Given the description of an element on the screen output the (x, y) to click on. 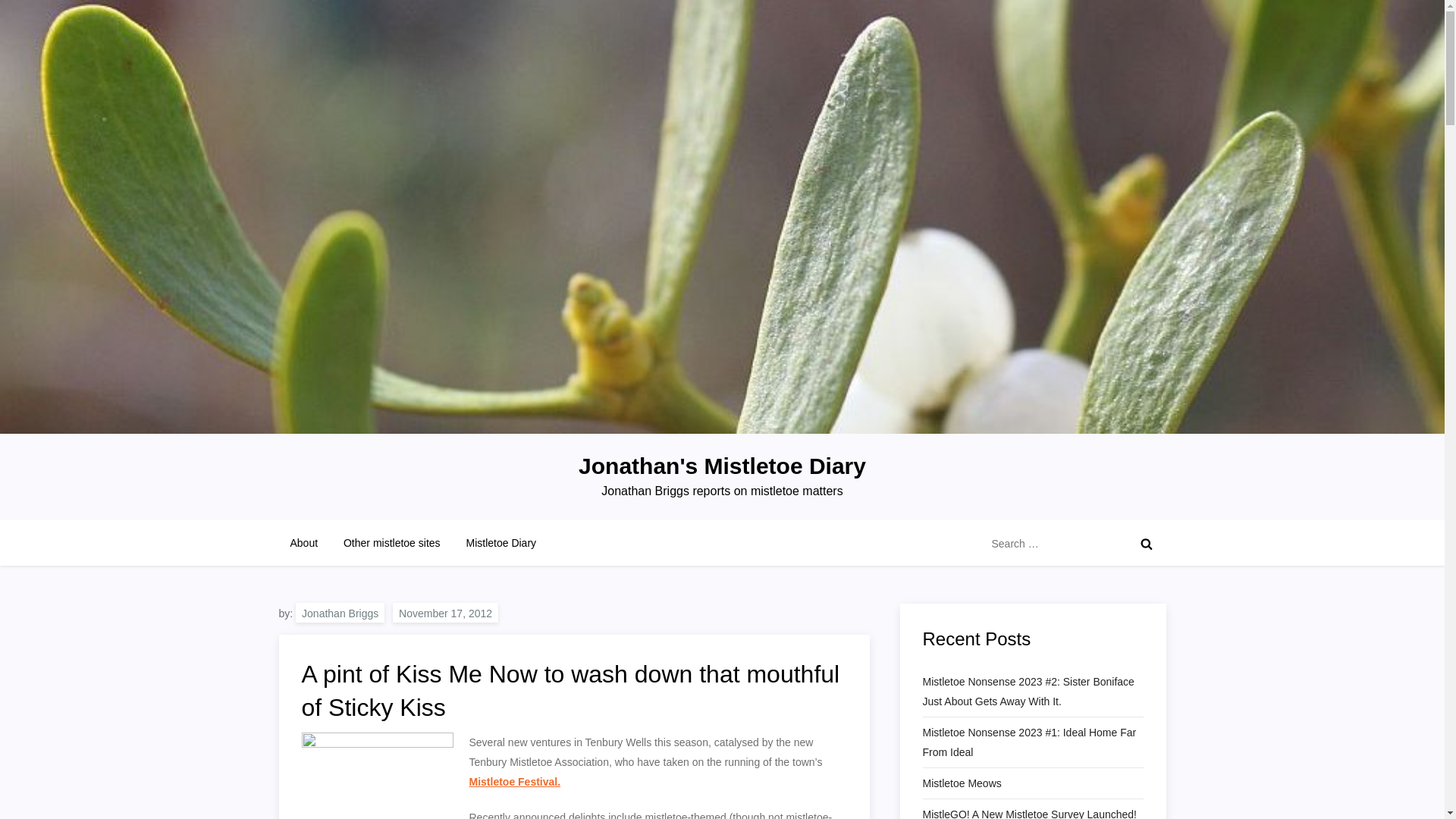
Mistletoe Meows (961, 783)
Jonathan's Mistletoe Diary (722, 465)
About (304, 542)
Jonathan Briggs (339, 611)
MistleGO! A New Mistletoe Survey Launched! (1028, 811)
Mistletoe Festival. (514, 781)
Mistletoe Diary (500, 542)
November 17, 2012 (445, 611)
Other mistletoe sites (391, 542)
